Given the description of an element on the screen output the (x, y) to click on. 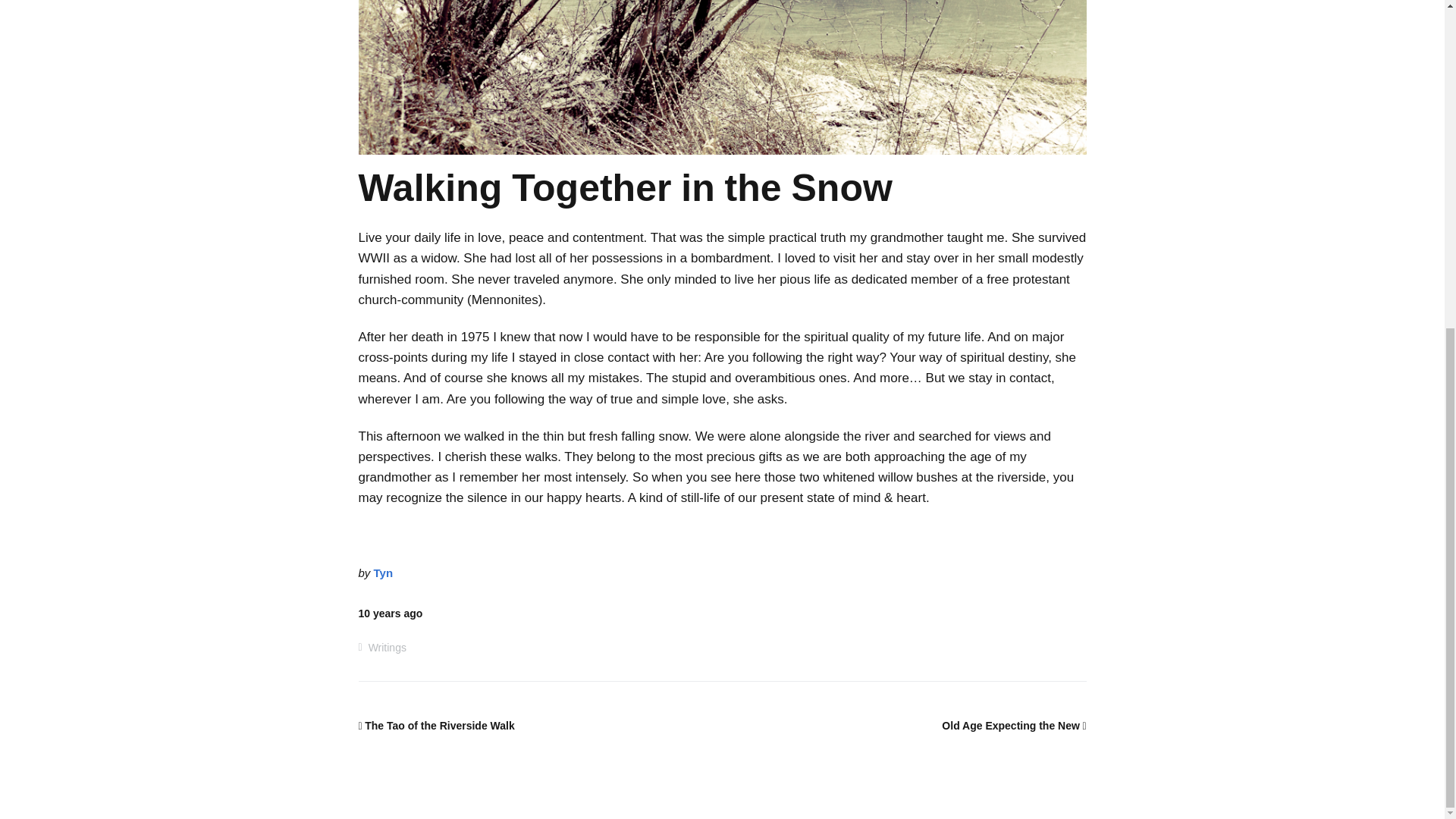
The Tao of the Riverside Walk (435, 725)
Tyn (383, 572)
Old Age Expecting the New (1014, 725)
Writings (387, 647)
